Given the description of an element on the screen output the (x, y) to click on. 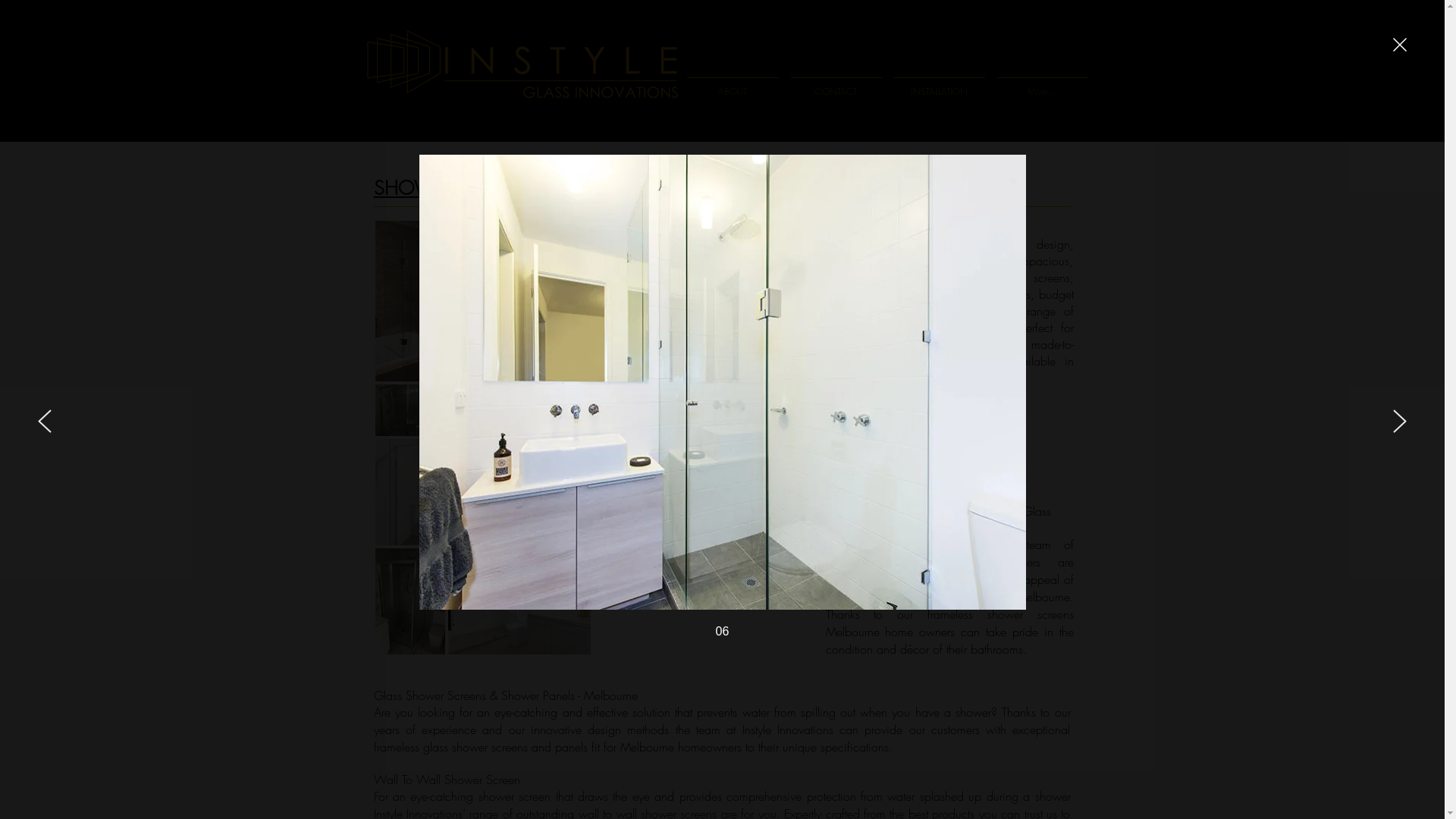
CONTACT Element type: text (835, 84)
INSTALLATION Element type: text (938, 84)
ABOUT Element type: text (732, 84)
Sliding doors Element type: text (877, 476)
